Given the description of an element on the screen output the (x, y) to click on. 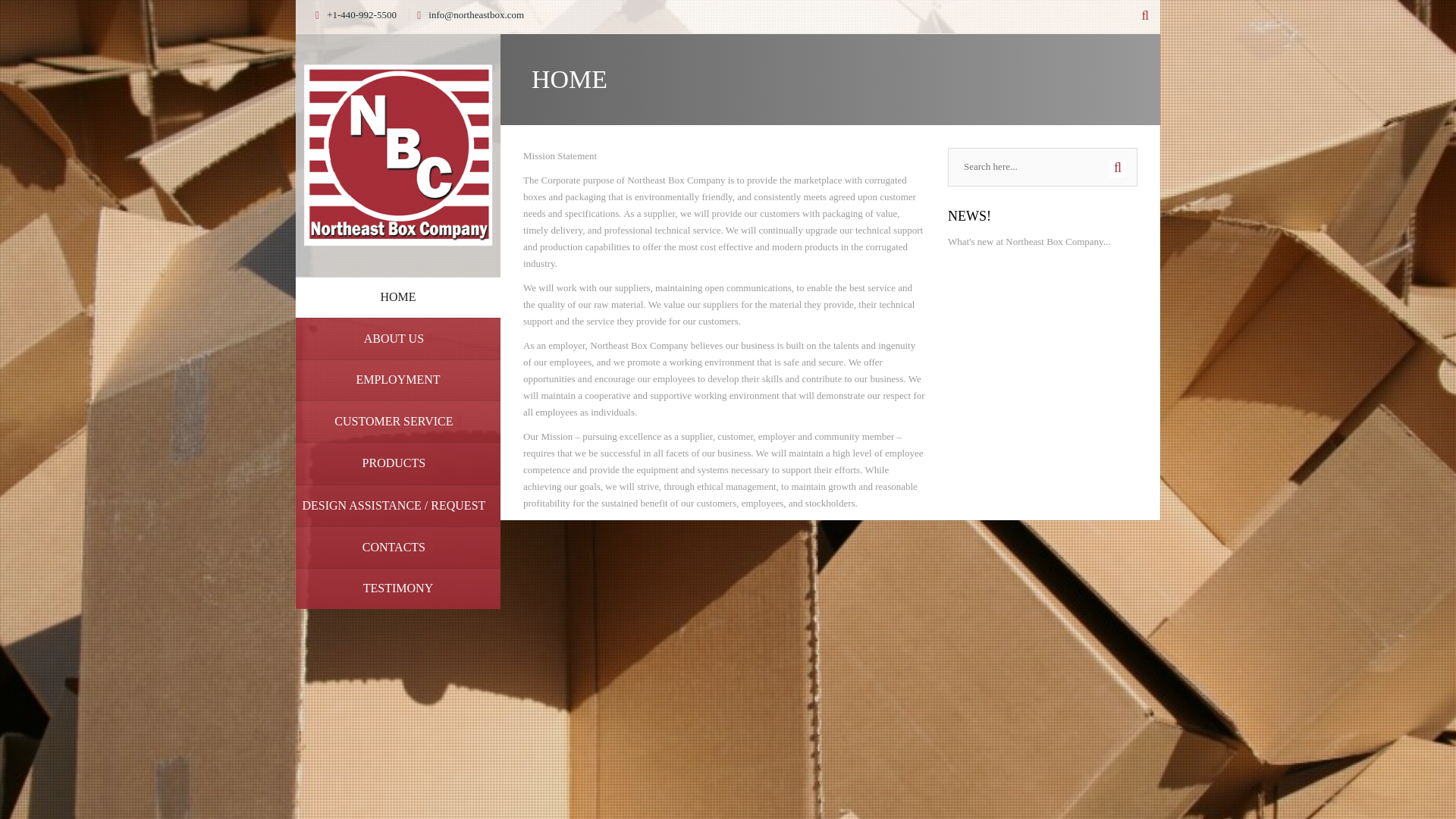
Northeast Box (397, 153)
HOME (397, 296)
CONTACTS (397, 547)
PRODUCTS (397, 463)
EMPLOYMENT (397, 379)
CUSTOMER SERVICE (397, 421)
ABOUT US (397, 338)
